Given the description of an element on the screen output the (x, y) to click on. 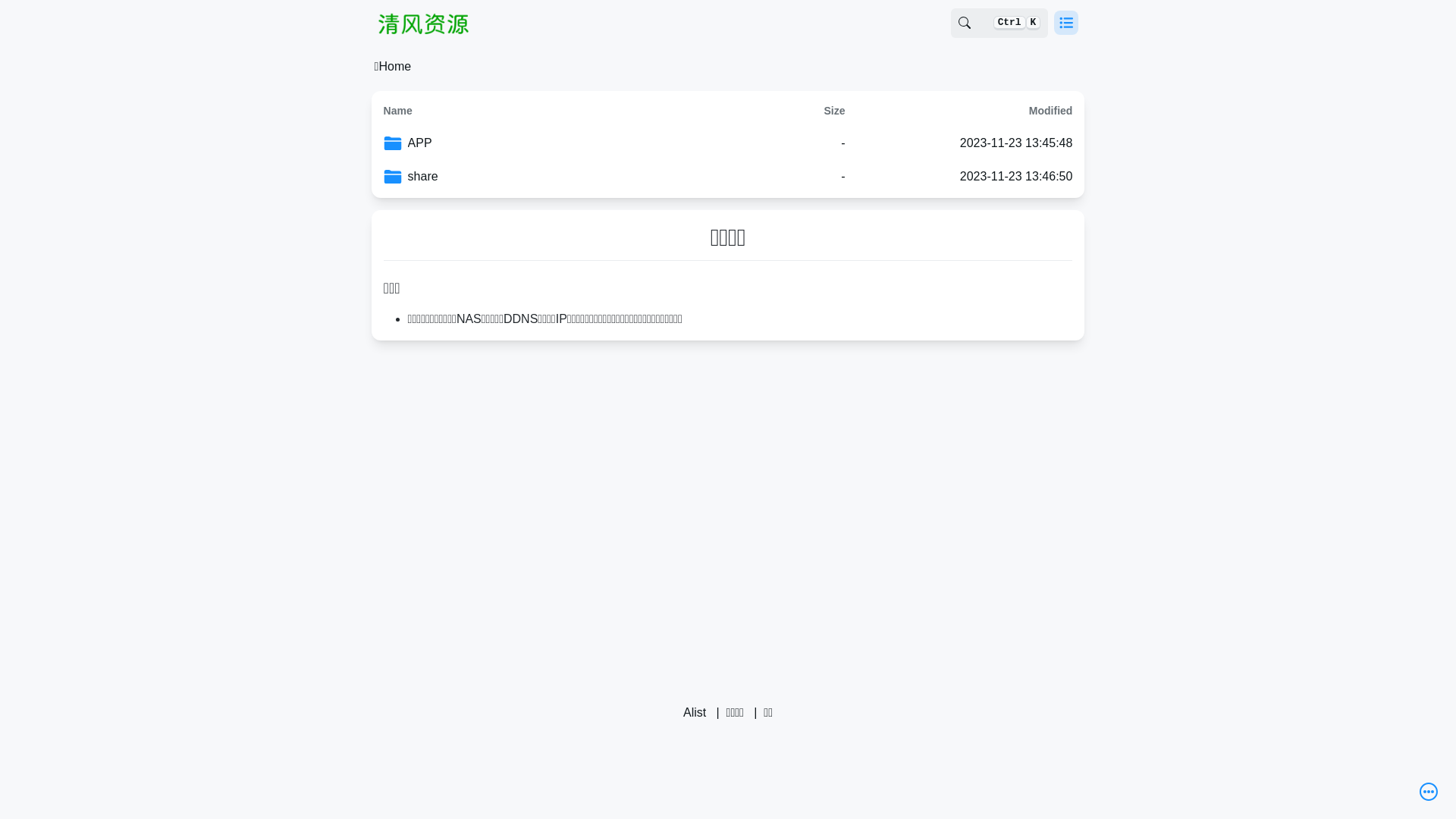
share
-
2023-11-23 13:46:50 Element type: text (728, 176)
APP
-
2023-11-23 13:45:48 Element type: text (728, 143)
Alist Element type: text (694, 712)
